Given the description of an element on the screen output the (x, y) to click on. 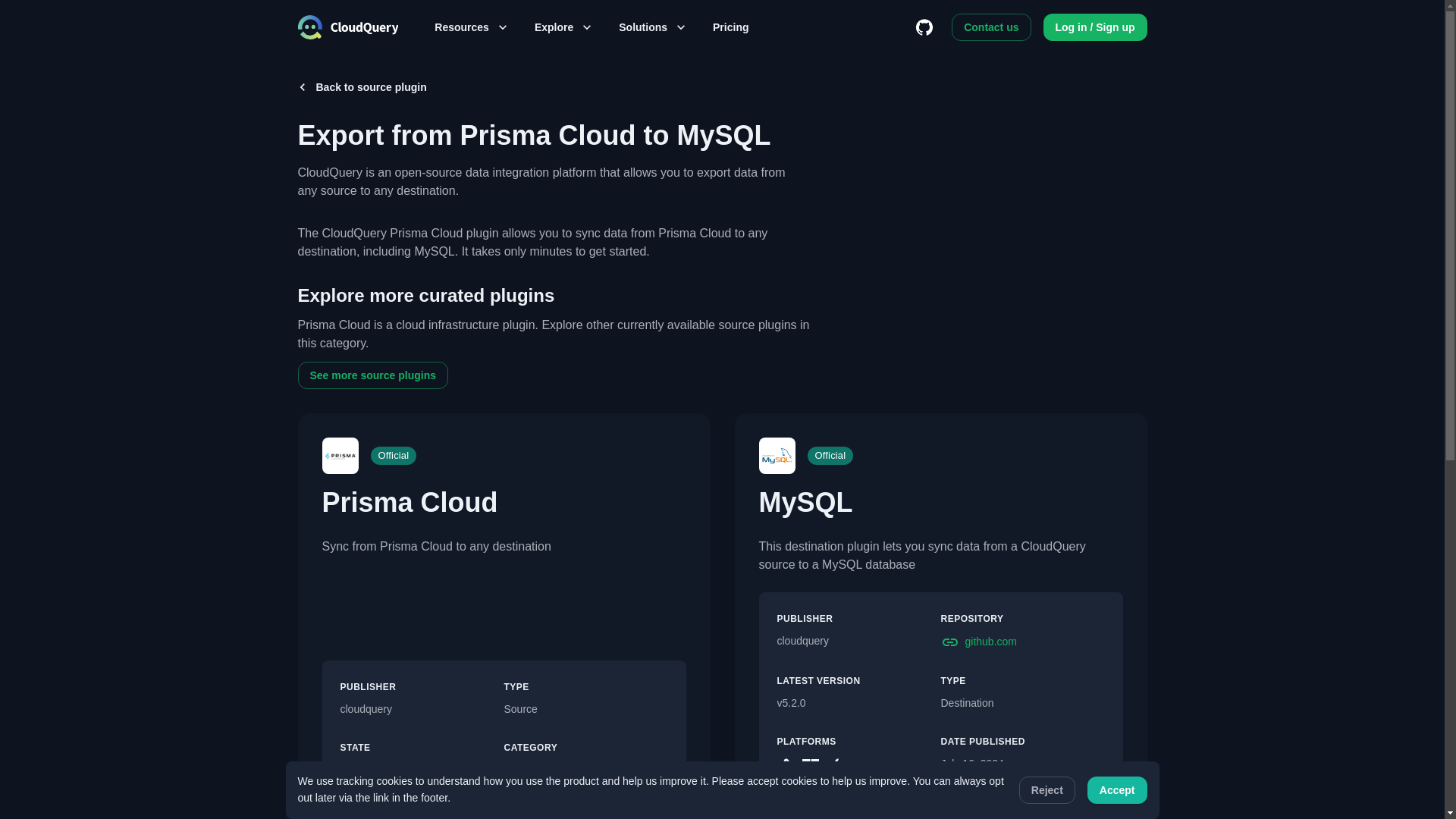
Coming soon (421, 770)
cloudquery (421, 709)
Destination (1021, 703)
github.com (1021, 642)
Show all (873, 766)
CloudQuery on GitHub (923, 27)
v5.2.0 (858, 703)
All supported platforms (873, 766)
Resources (470, 27)
Explore (563, 27)
Home (347, 27)
Pricing (730, 27)
Accept (1117, 790)
Solutions (652, 27)
Reject (1047, 790)
